Given the description of an element on the screen output the (x, y) to click on. 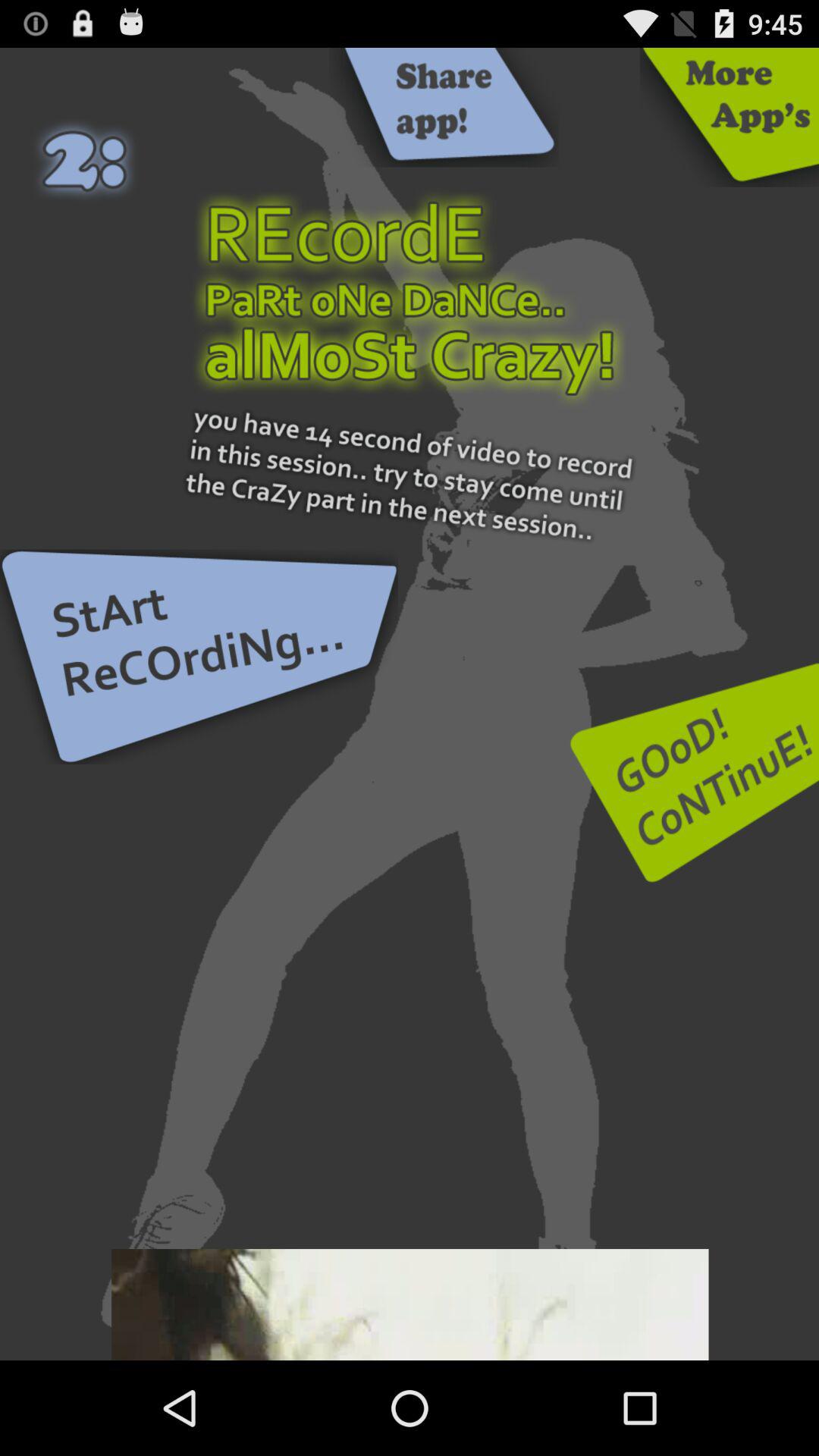
good continue (694, 772)
